Given the description of an element on the screen output the (x, y) to click on. 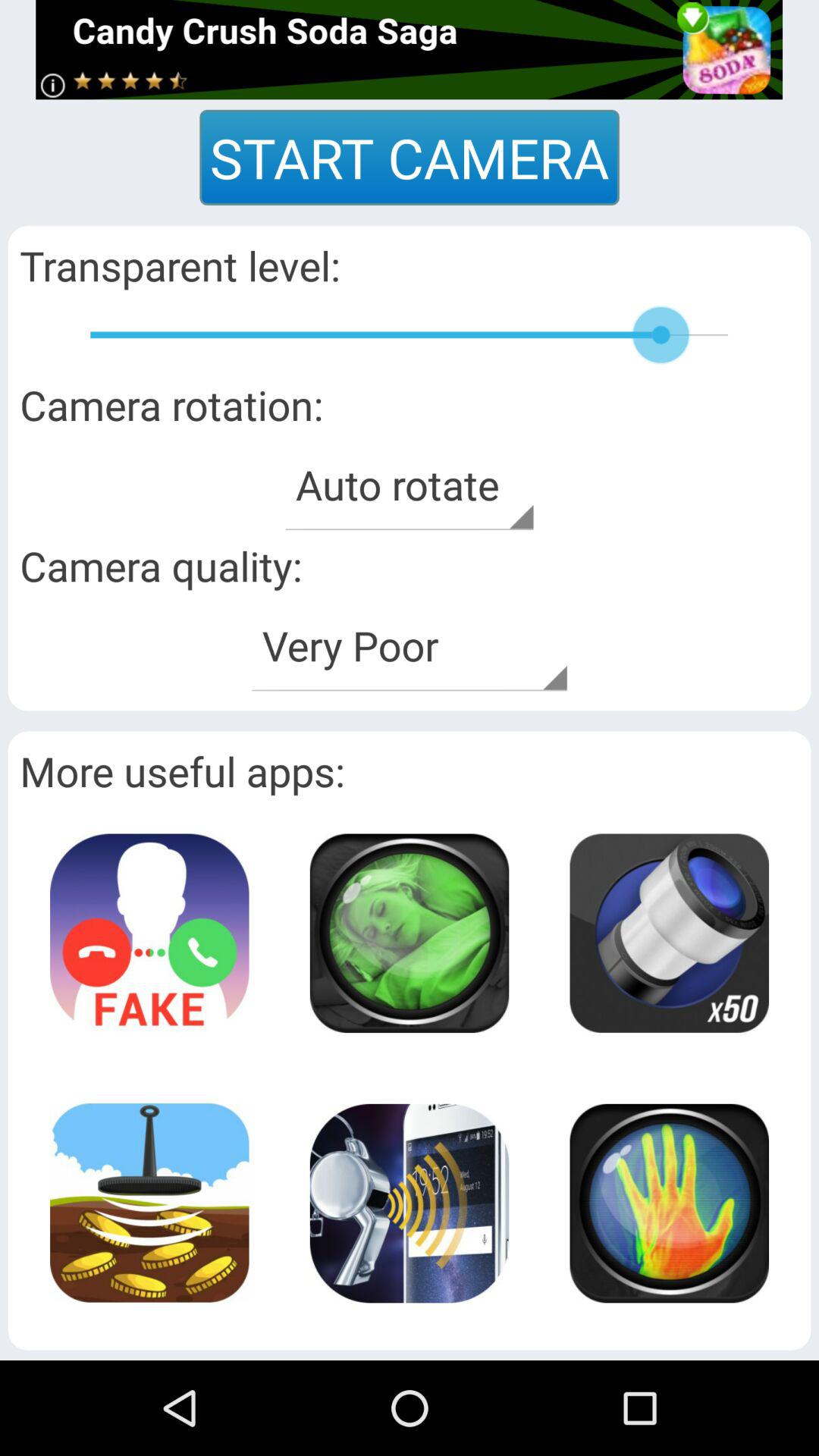
speaker box (668, 1202)
